Given the description of an element on the screen output the (x, y) to click on. 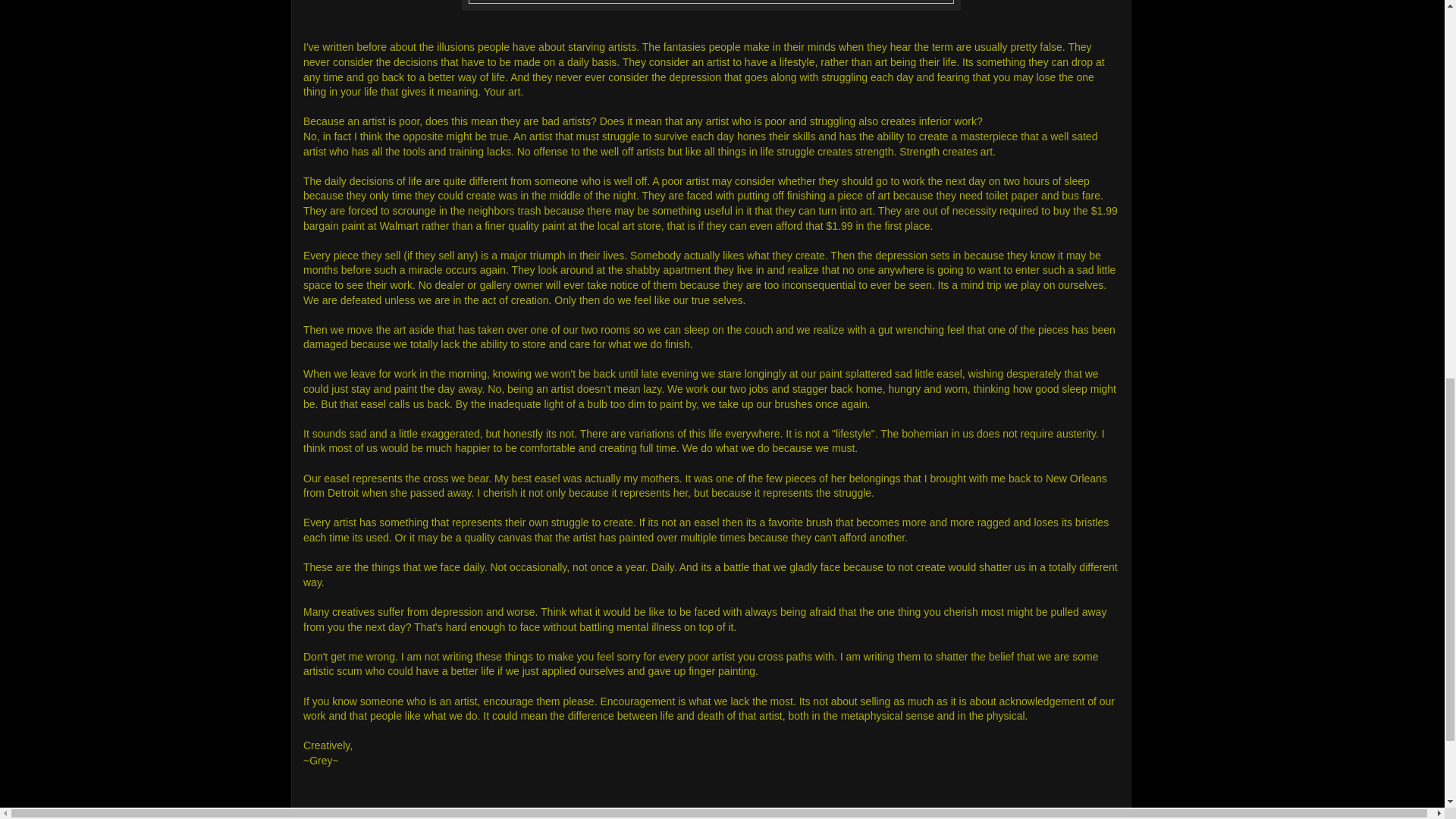
permanent link (336, 818)
